Given the description of an element on the screen output the (x, y) to click on. 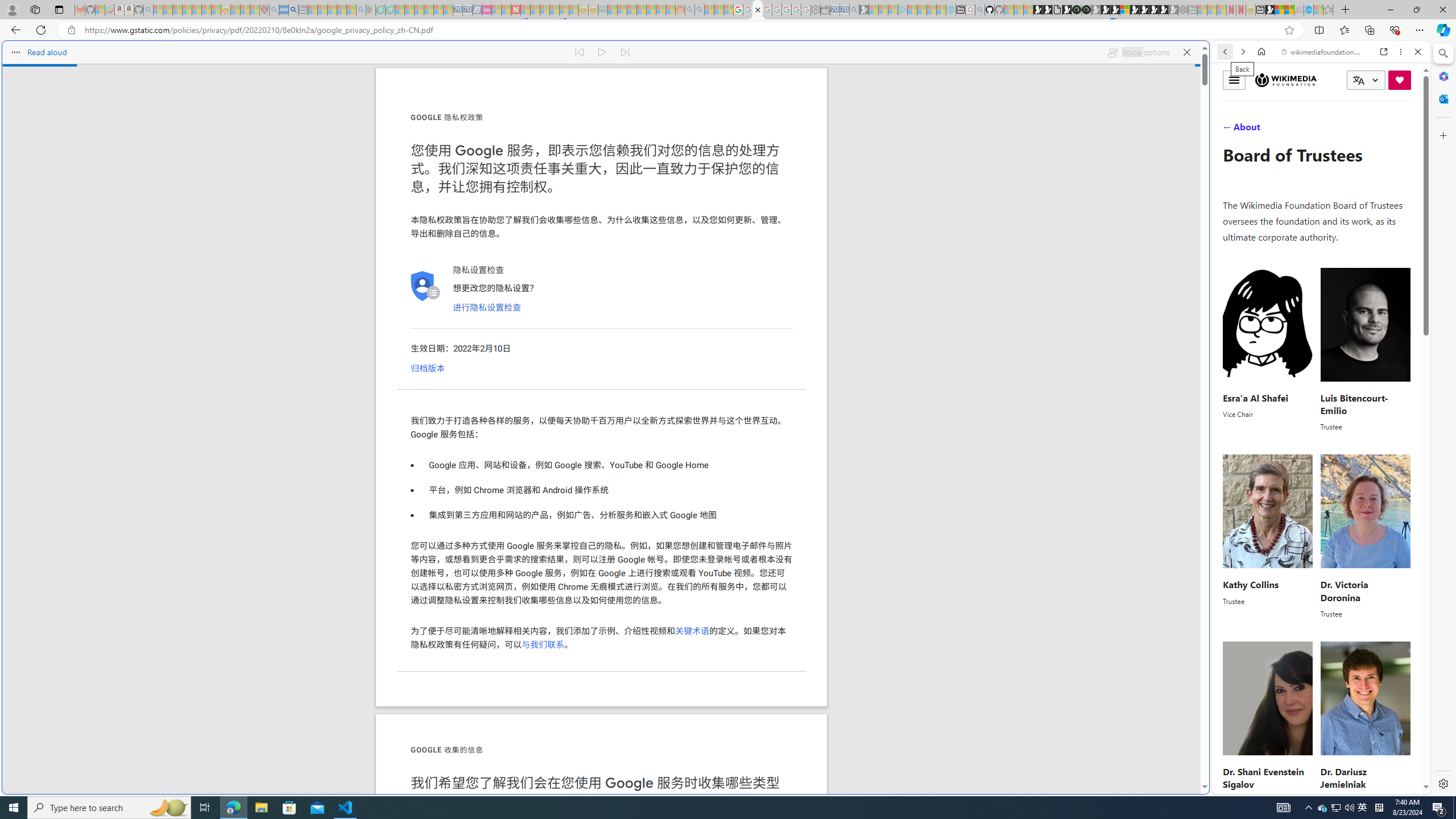
Sign in to your account (1124, 9)
Wikimedia Foundation (1285, 79)
Future Focus Report 2024 (1085, 9)
